Given the description of an element on the screen output the (x, y) to click on. 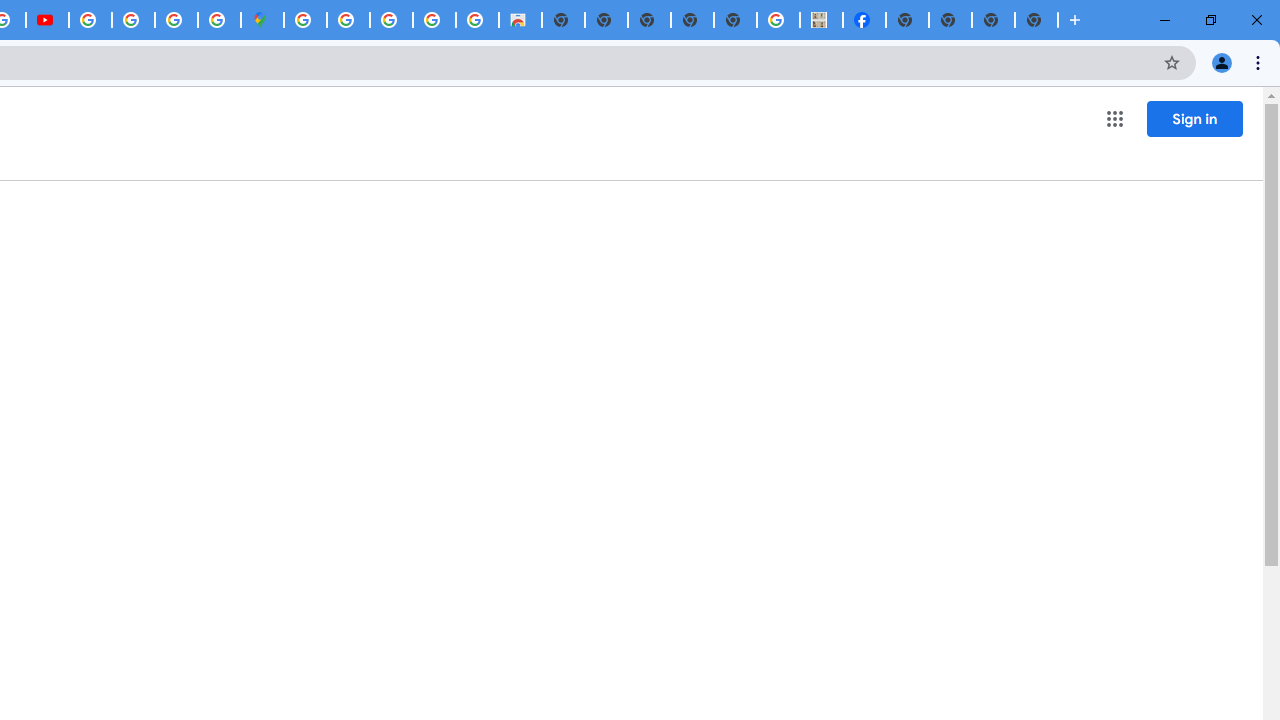
Subscriptions - YouTube (47, 20)
Sign in - Google Accounts (305, 20)
How Chrome protects your passwords - Google Chrome Help (90, 20)
